Given the description of an element on the screen output the (x, y) to click on. 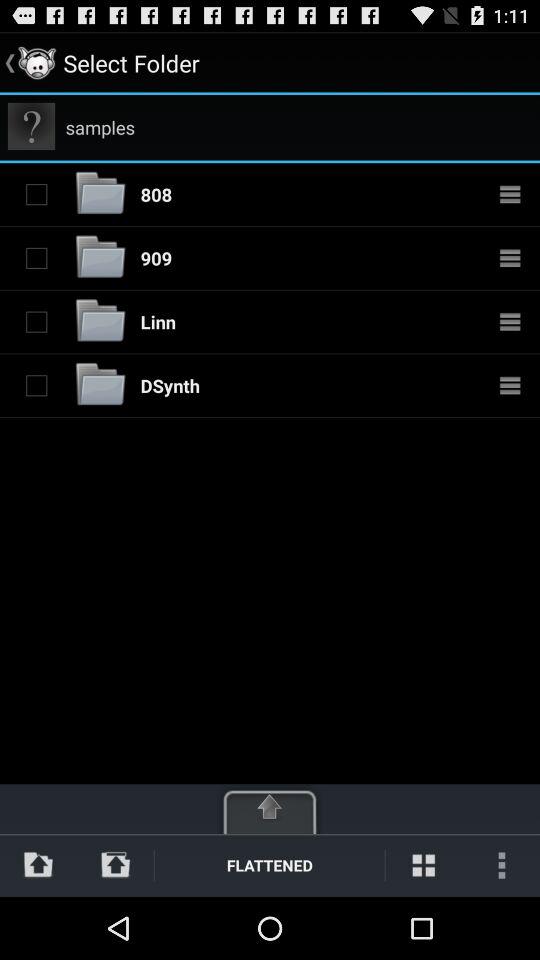
scroll until flattened (269, 864)
